Given the description of an element on the screen output the (x, y) to click on. 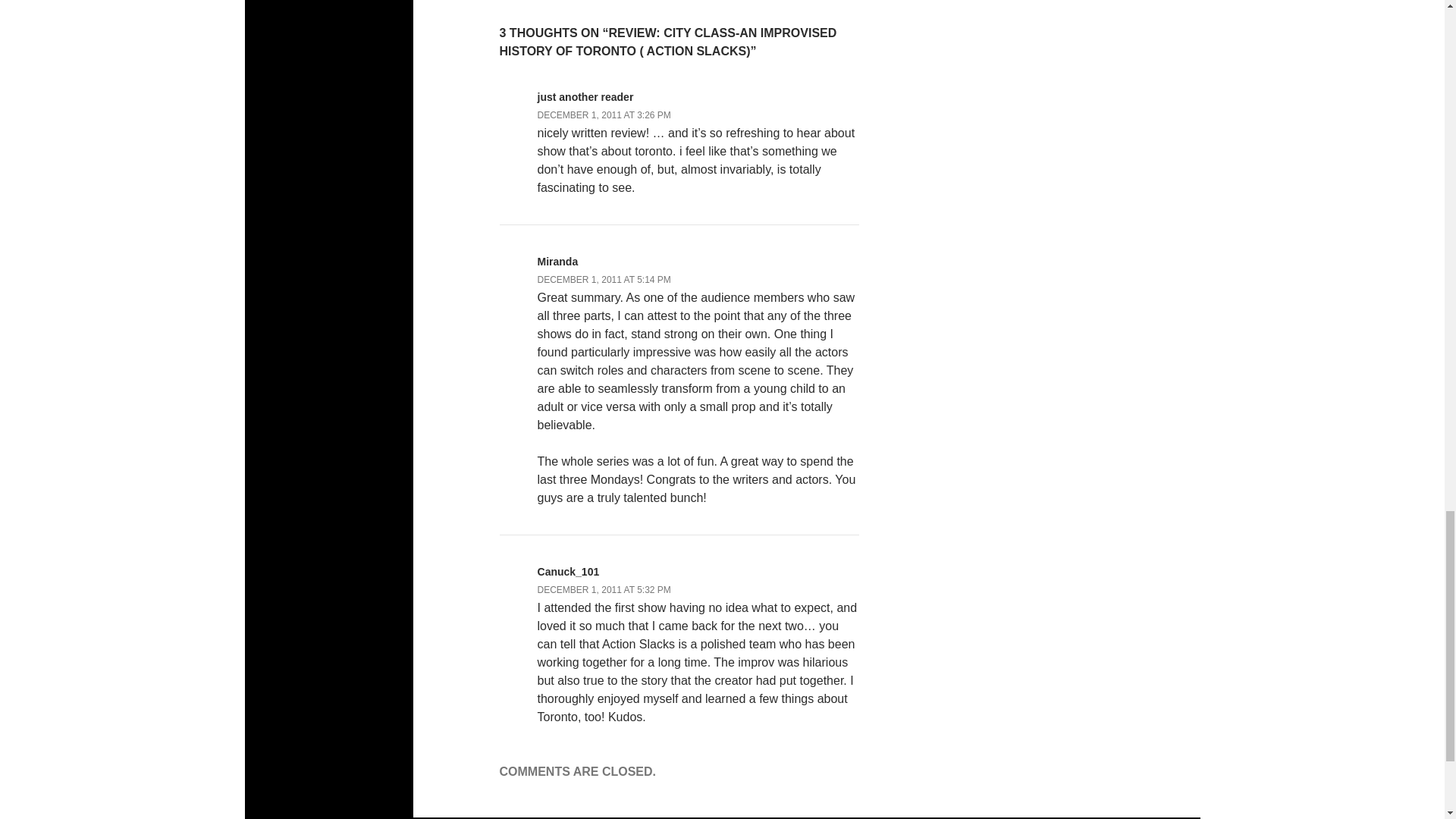
DECEMBER 1, 2011 AT 5:14 PM (604, 279)
DECEMBER 1, 2011 AT 5:32 PM (604, 589)
DECEMBER 1, 2011 AT 3:26 PM (604, 114)
